Given the description of an element on the screen output the (x, y) to click on. 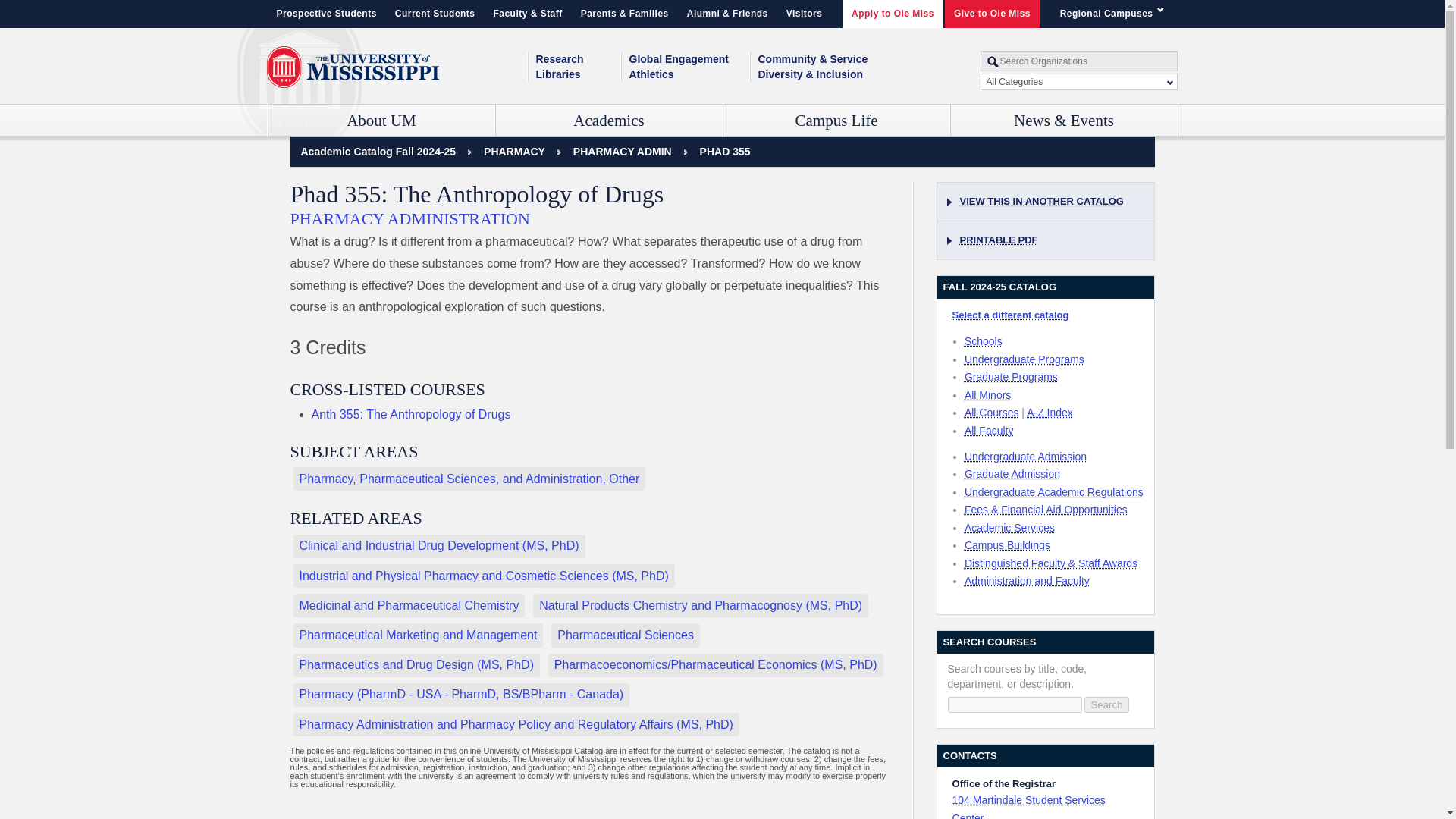
Athletics (688, 73)
School of Pharmacy (513, 151)
About UM (381, 120)
Regional Campuses (1114, 13)
Catalog home page (377, 151)
Research (577, 58)
Visitors (804, 13)
Prospective Students (325, 13)
Academics (609, 120)
Search (1106, 704)
Give to Ole Miss (991, 13)
Pharmacy Administration (622, 151)
Libraries (577, 73)
Campus Life (836, 120)
Apply to Ole Miss (893, 13)
